Given the description of an element on the screen output the (x, y) to click on. 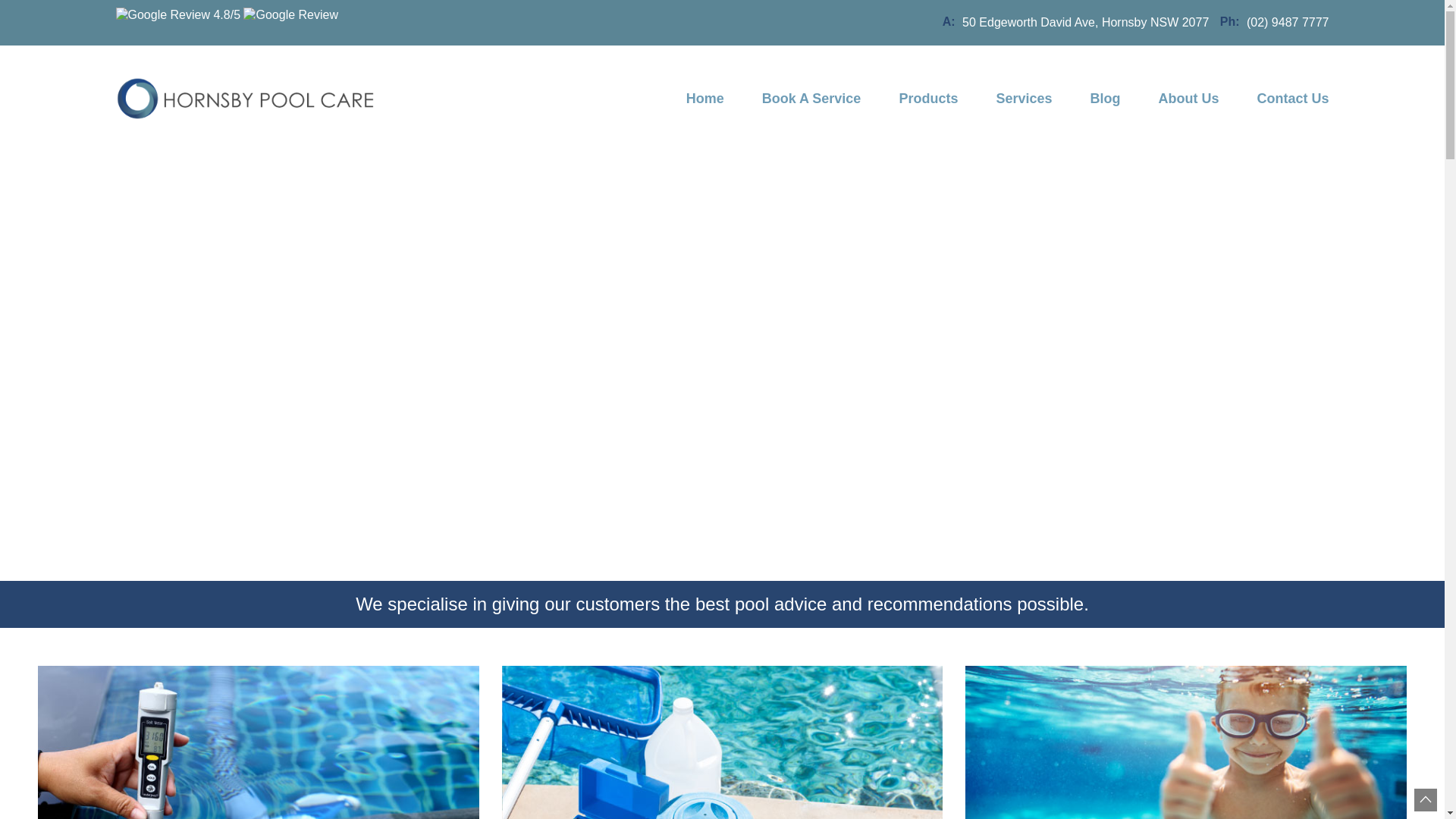
Home Element type: text (705, 98)
Blog Element type: text (1104, 98)
About Us Element type: text (1188, 98)
Book A Service Element type: text (811, 98)
4.8/5 Element type: text (226, 22)
(02) 9487 7777 Element type: text (1287, 23)
50 Edgeworth David Ave, Hornsby NSW 2077 Element type: text (1085, 23)
Contact Us Element type: text (1282, 98)
Services Element type: text (1023, 98)
Products Element type: text (927, 98)
